Given the description of an element on the screen output the (x, y) to click on. 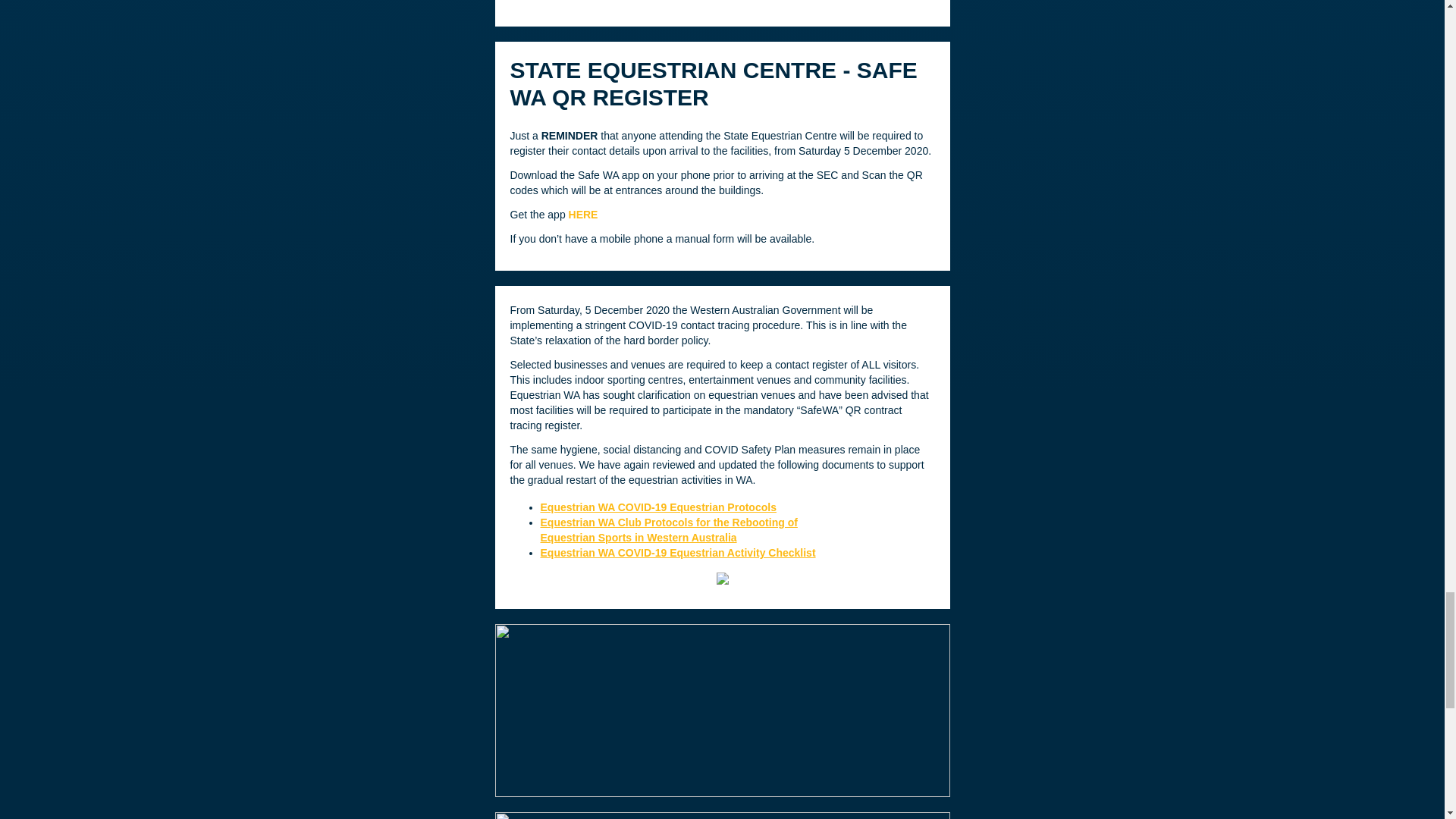
HERE (583, 214)
Equestrian WA COVID-19 Equestrian Protocols (658, 507)
Equestrian WA COVID-19 Equestrian Activity Checklist (677, 552)
